Given the description of an element on the screen output the (x, y) to click on. 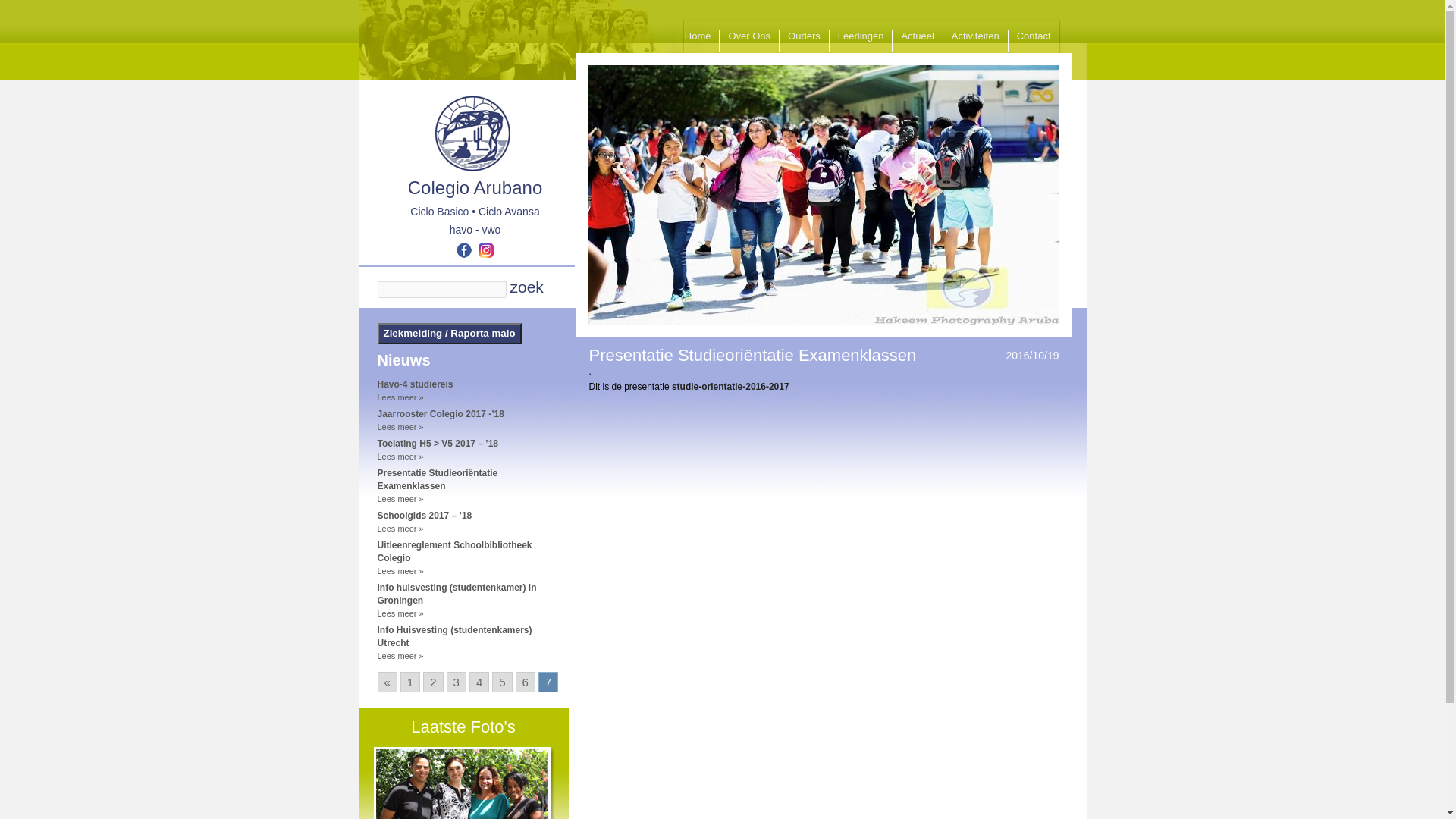
Home Element type: text (697, 35)
Leerlingen Element type: text (860, 35)
3 Element type: text (456, 681)
Contact Element type: text (1033, 35)
zoek Element type: text (524, 287)
2 Element type: text (432, 681)
Actueel Element type: text (916, 35)
4 Element type: text (479, 681)
1 Element type: text (410, 681)
Over Ons Element type: text (748, 35)
Activiteiten Element type: text (975, 35)
5 Element type: text (501, 681)
Ouders Element type: text (803, 35)
6 Element type: text (525, 681)
studie-orientatie-2016-2017 Element type: text (730, 385)
